Given the description of an element on the screen output the (x, y) to click on. 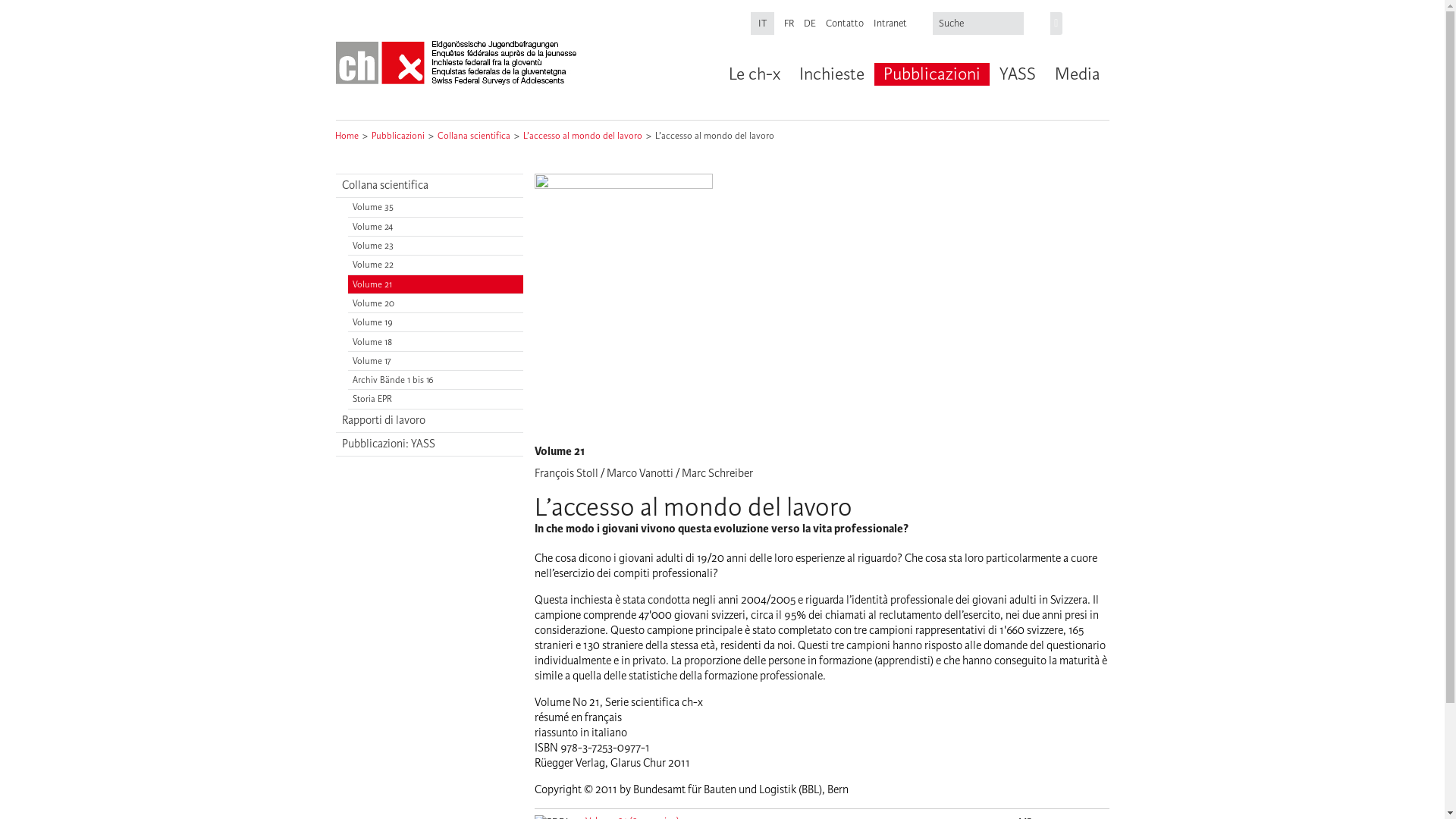
CHX Home Element type: hover (457, 63)
Pubblicazioni Element type: text (931, 73)
Media Element type: text (1076, 73)
Intranet Element type: text (889, 23)
Contatto Element type: text (844, 23)
Volume 35 Element type: text (435, 206)
Volume 18 Element type: text (435, 341)
FR Element type: text (788, 23)
Pubblicazioni Element type: text (397, 135)
Storia EPR Element type: text (435, 398)
CHX Home Element type: hover (457, 63)
IT Element type: text (762, 23)
Le ch-x Element type: text (753, 73)
Volume 19 Element type: text (435, 322)
Skip to main content Element type: text (48, 0)
Volume 21 Element type: text (435, 284)
DE Element type: text (809, 23)
YASS Element type: text (1016, 73)
Volume 23 Element type: text (435, 245)
Pubblicazioni: YASS Element type: text (429, 444)
Rapporti di lavoro Element type: text (429, 421)
Home Element type: text (346, 135)
Volume 22 Element type: text (435, 264)
Inserisci i termini da cercare. Element type: hover (979, 23)
Volume 17 Element type: text (435, 360)
Volume 24 Element type: text (435, 226)
Inchieste Element type: text (830, 73)
Volume 20 Element type: text (435, 303)
Collana scientifica Element type: text (429, 185)
Collana scientifica Element type: text (472, 135)
